Given the description of an element on the screen output the (x, y) to click on. 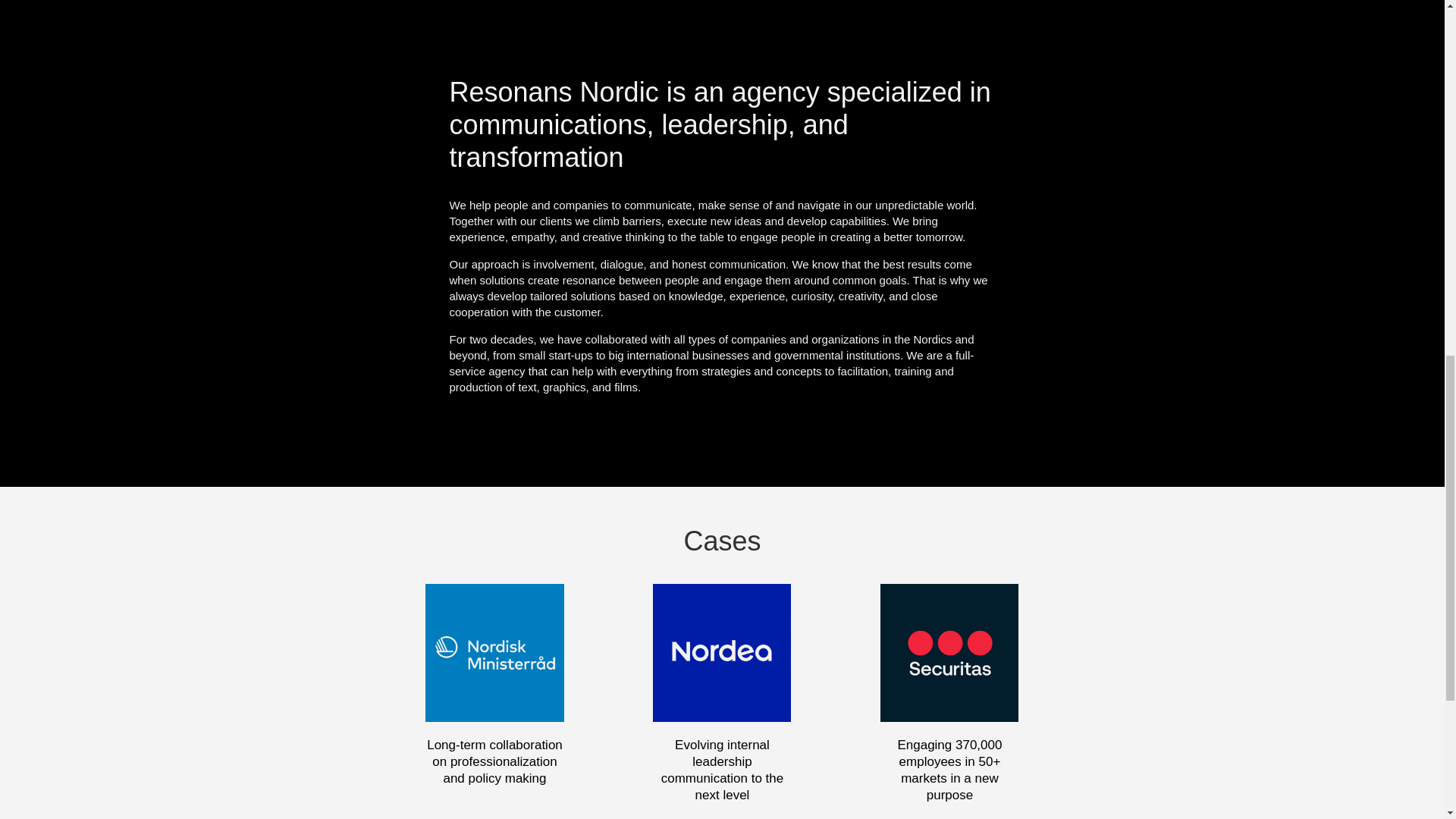
Evolving internal leadership communication to the next level (722, 769)
